Given the description of an element on the screen output the (x, y) to click on. 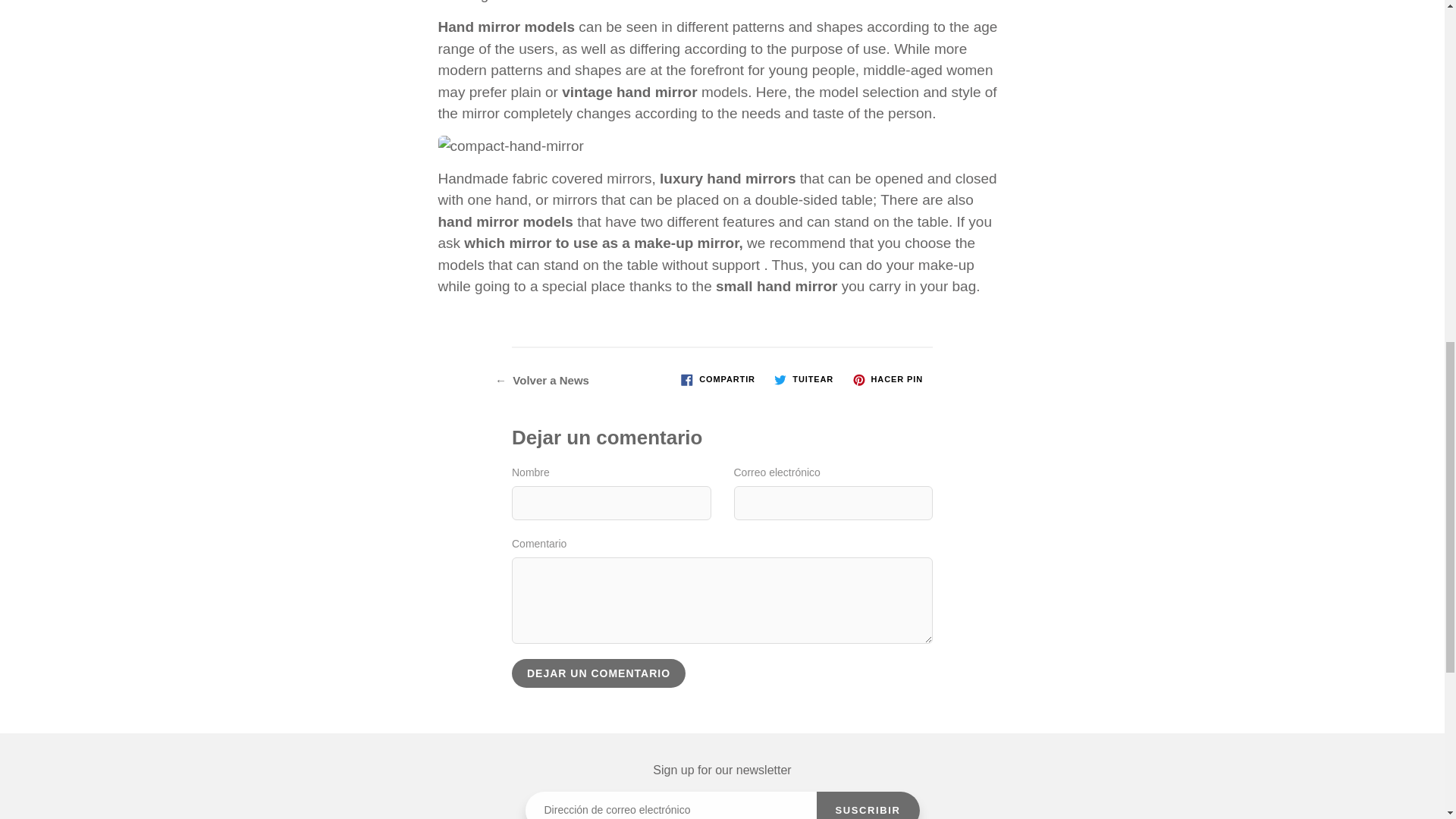
Tuitear en Twitter (804, 380)
Pinear en Pinterest (887, 380)
Compartir en Facebook (718, 380)
